Given the description of an element on the screen output the (x, y) to click on. 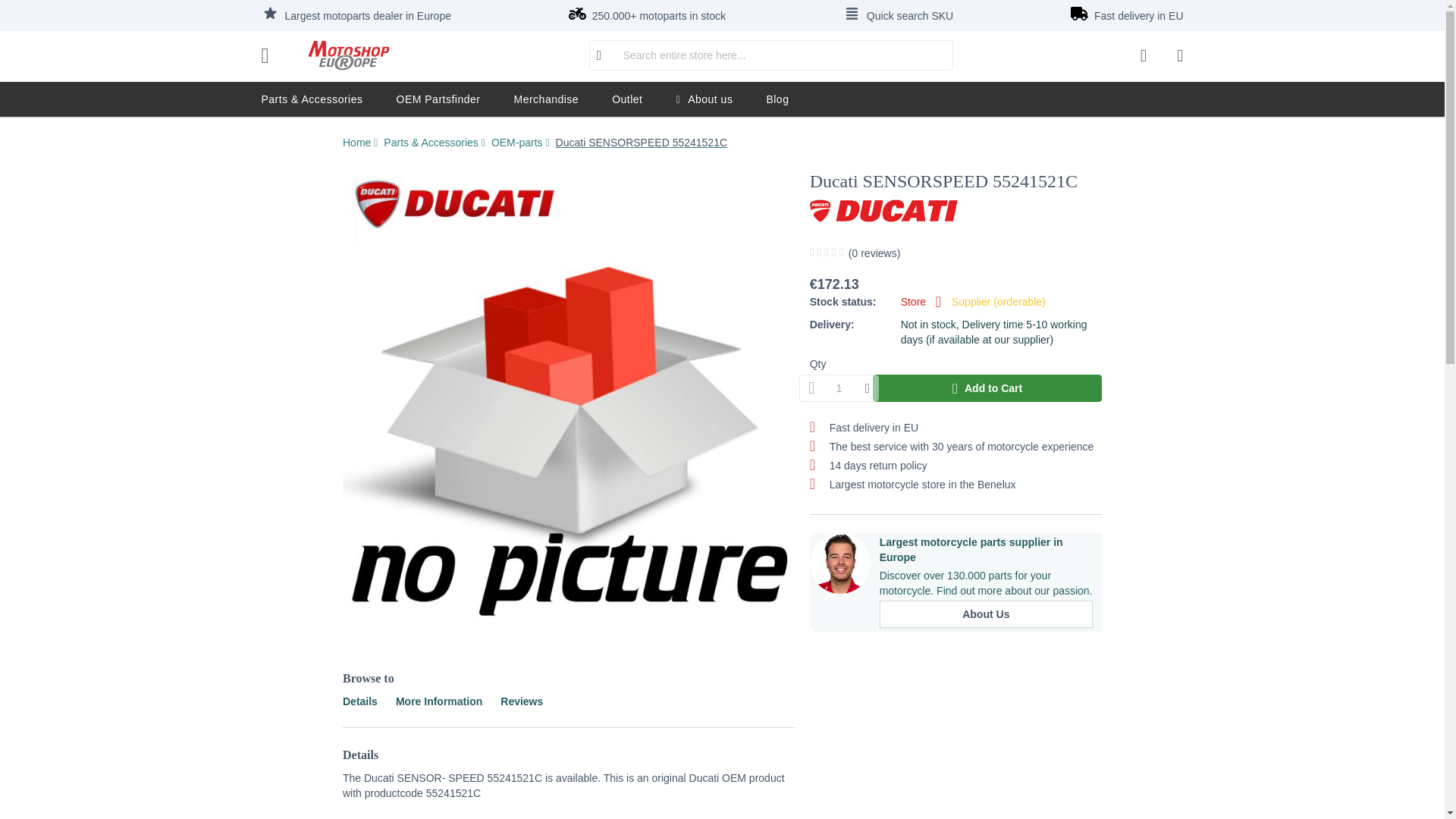
Webshop Motoshop Europe (348, 55)
Qty (839, 388)
Add to Cart (987, 388)
1 (839, 388)
Go to Home Page (358, 142)
Ducati (894, 210)
